Given the description of an element on the screen output the (x, y) to click on. 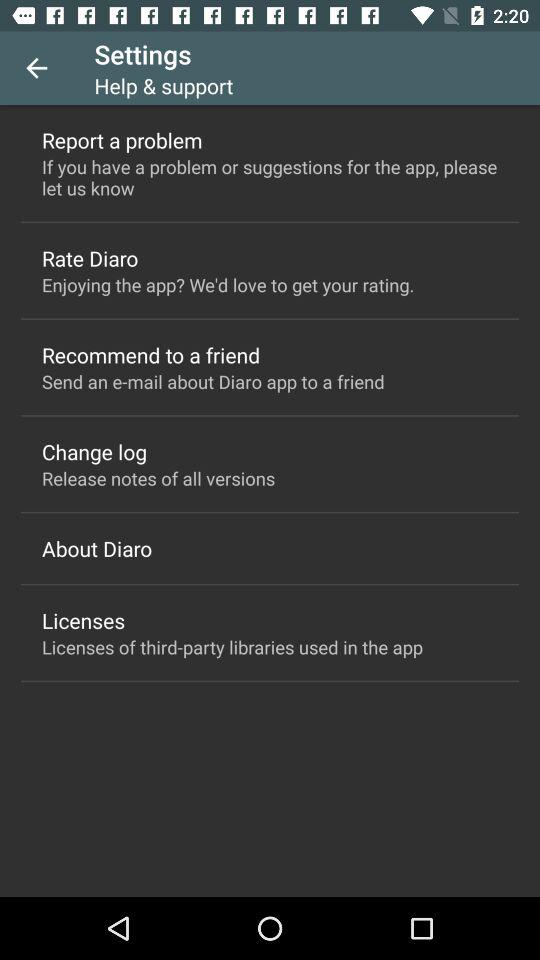
jump to if you have (269, 177)
